Given the description of an element on the screen output the (x, y) to click on. 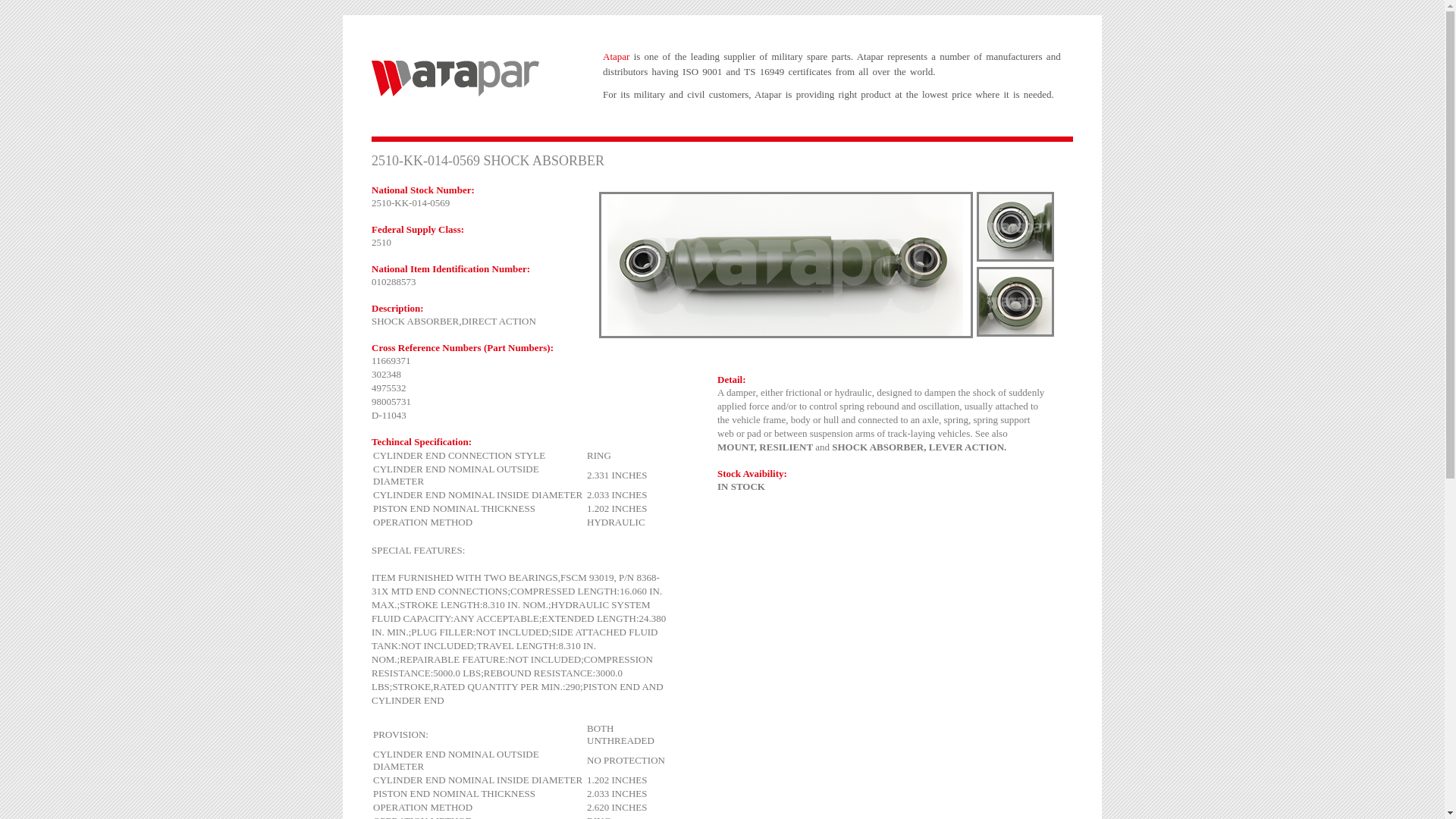
Atapar Element type: hover (455, 78)
2510-KK-014-0569 Element type: hover (1015, 301)
2510-KK-014-0569 Element type: hover (1015, 226)
2510-KK-014-0569 Element type: hover (785, 264)
